Given the description of an element on the screen output the (x, y) to click on. 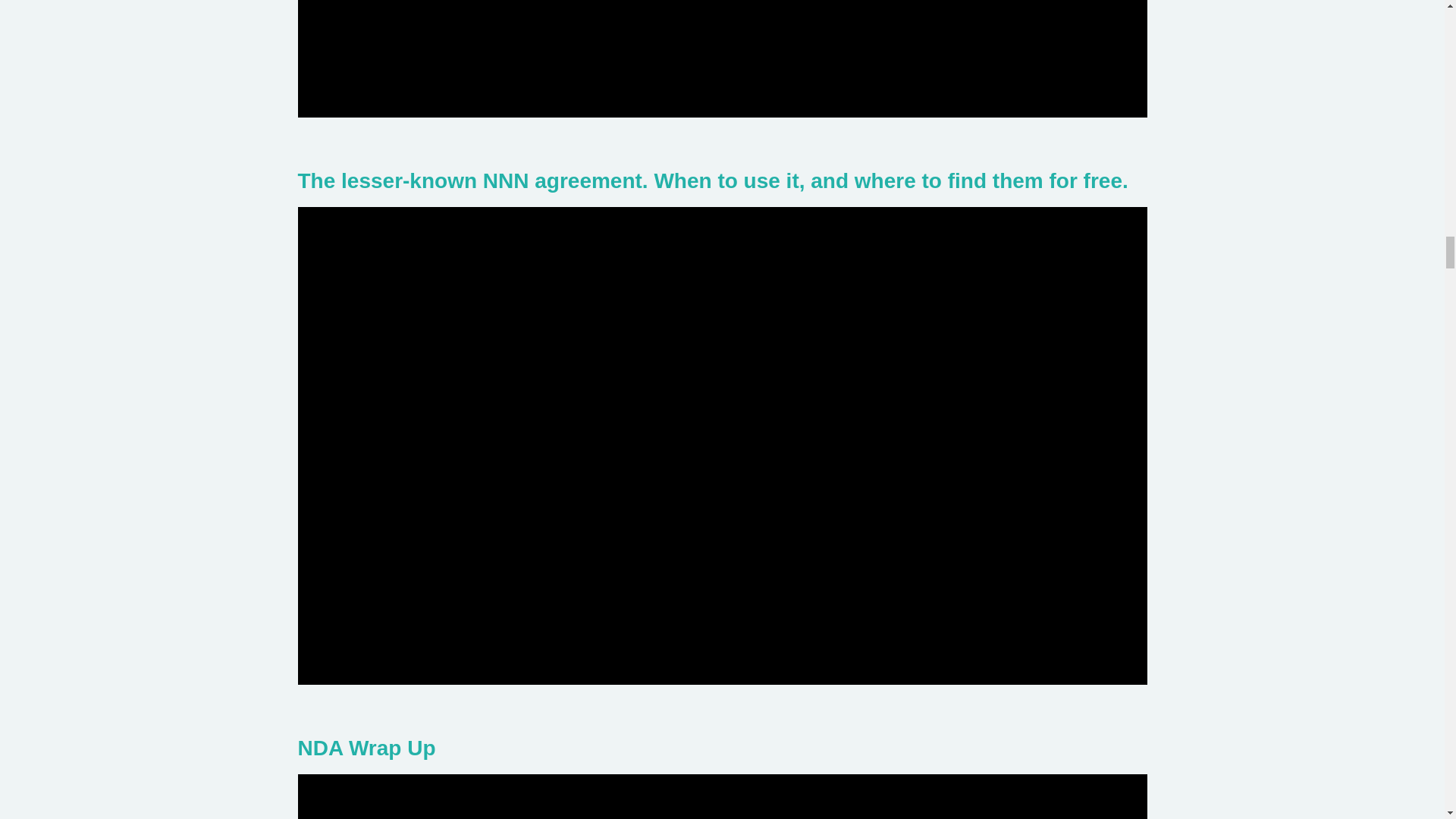
vimeo Video Player (722, 58)
vimeo Video Player (722, 796)
